Given the description of an element on the screen output the (x, y) to click on. 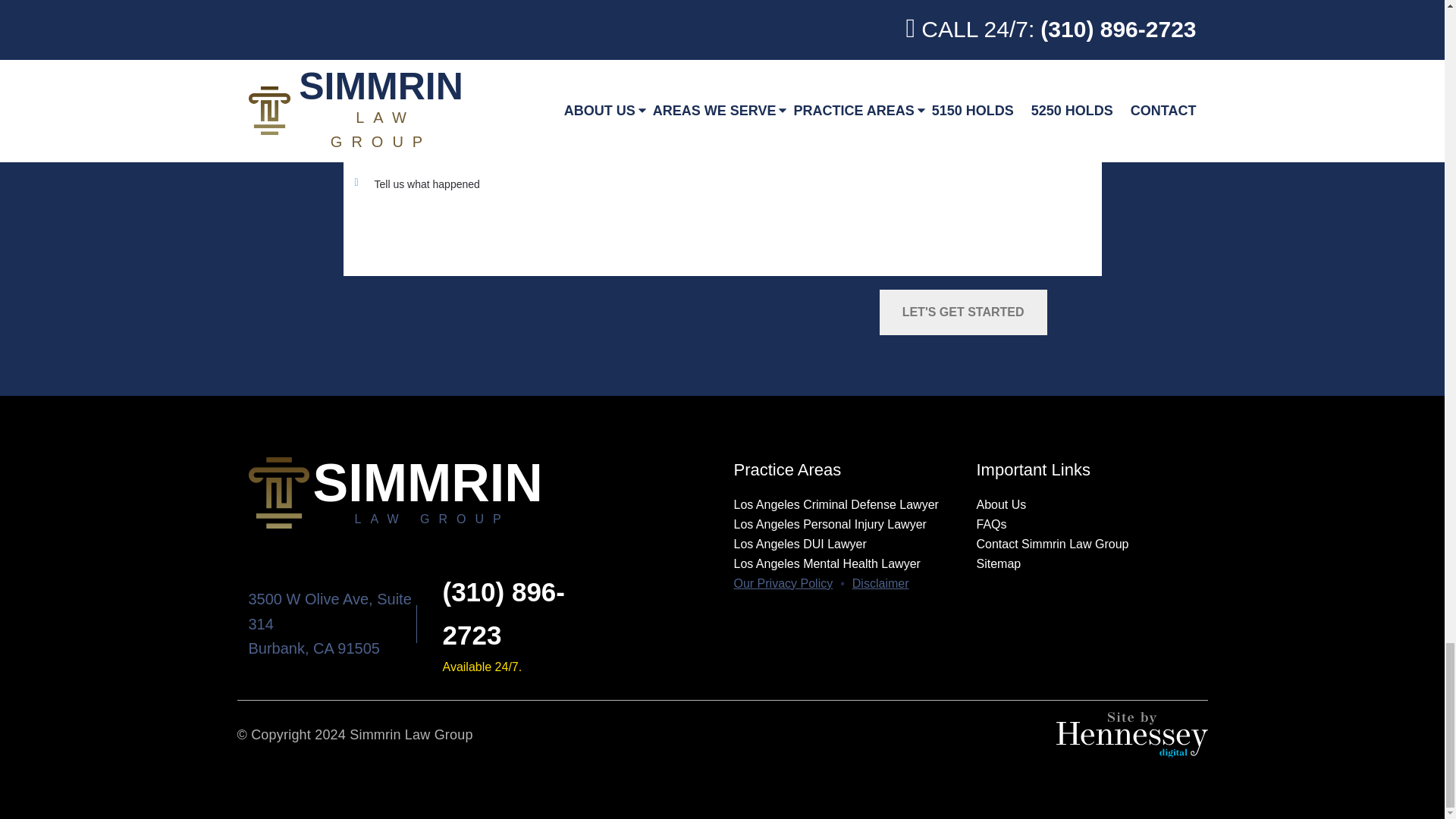
disclaimer (879, 583)
Let's get started (962, 311)
our privacy policy (782, 583)
Simmrin Law (479, 492)
phone (503, 613)
